Given the description of an element on the screen output the (x, y) to click on. 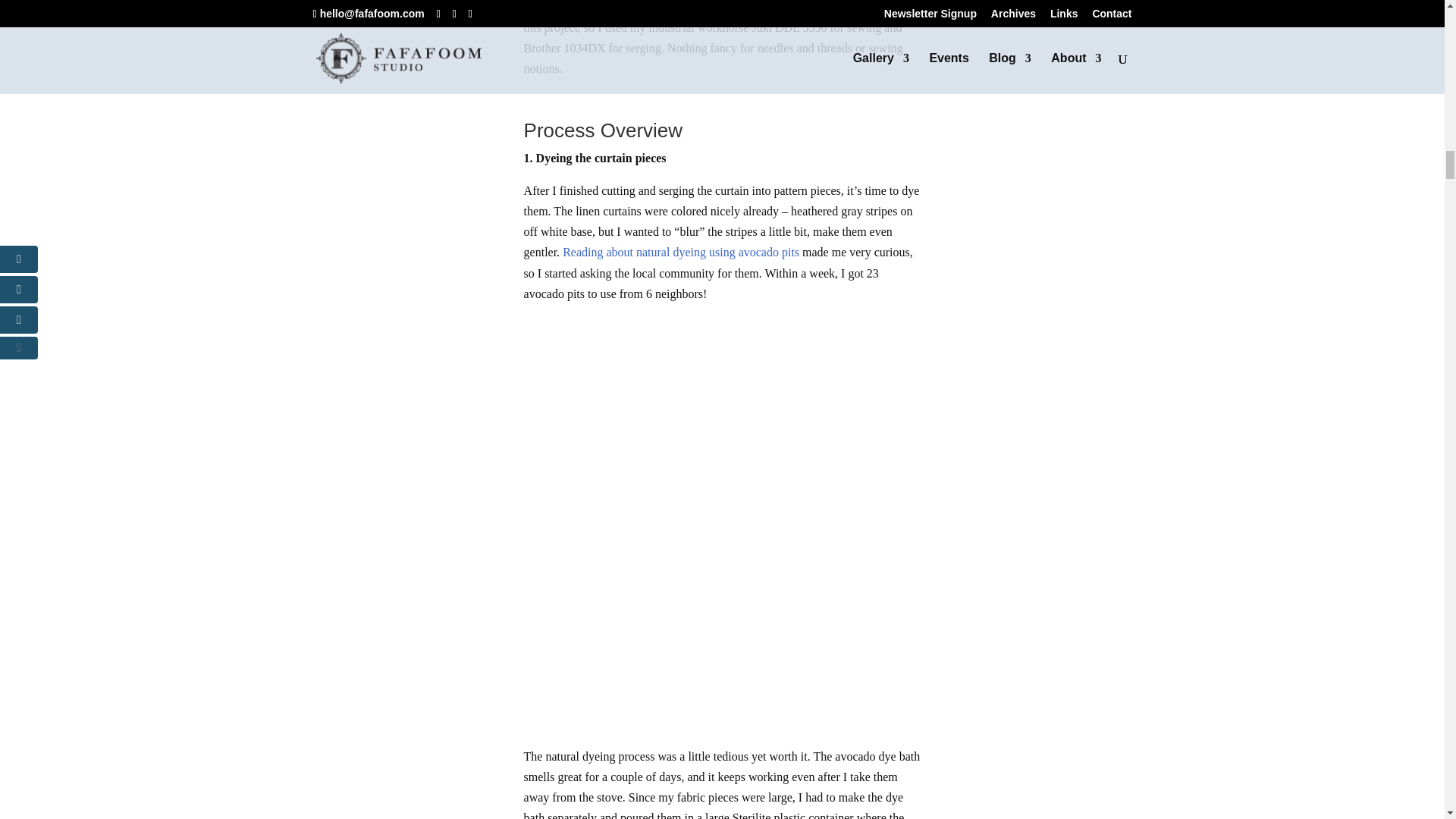
Reading about natural dyeing using avocado pits (680, 251)
